Given the description of an element on the screen output the (x, y) to click on. 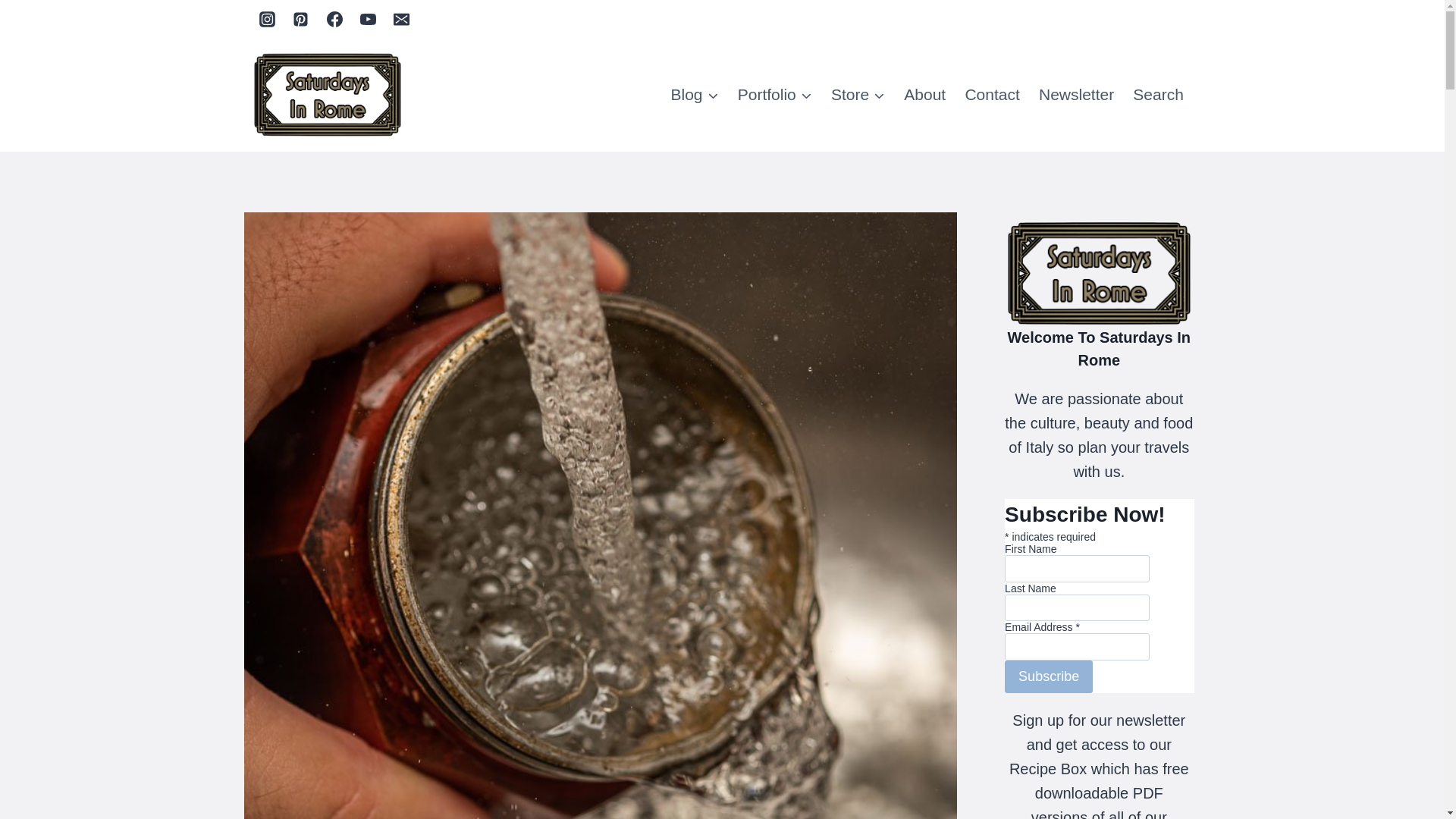
Newsletter (1075, 94)
About (925, 94)
Subscribe (1048, 676)
Blog (694, 94)
Search (1158, 94)
Portfolio (774, 94)
Contact (992, 94)
Store (857, 94)
